Given the description of an element on the screen output the (x, y) to click on. 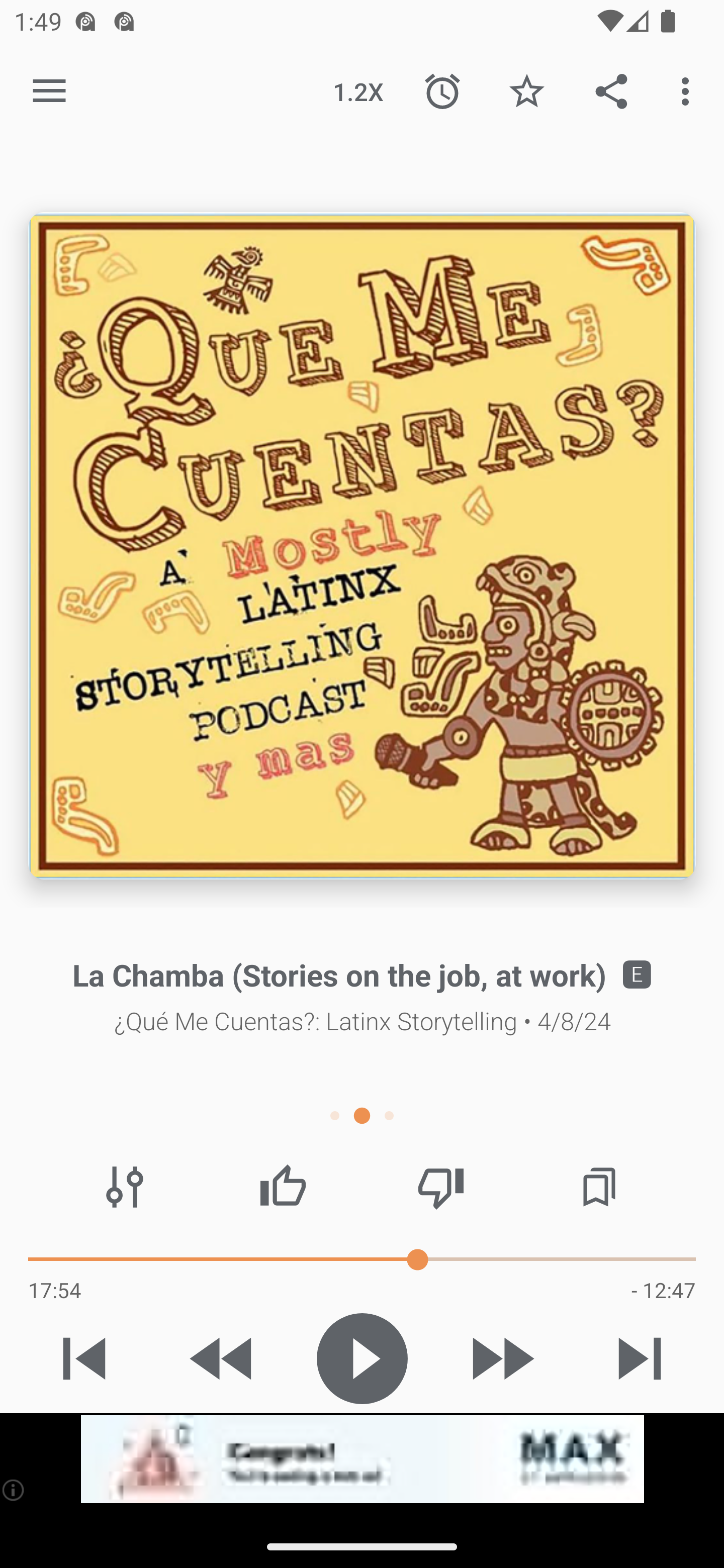
Open navigation sidebar (49, 91)
1.2X (357, 90)
Sleep Timer (442, 90)
Favorite (526, 90)
Share (611, 90)
More options (688, 90)
Episode description (361, 545)
Audio effects (124, 1186)
Thumbs up (283, 1186)
Thumbs down (440, 1186)
Chapters / Bookmarks (598, 1186)
- 12:47 (663, 1289)
Previous track (84, 1358)
Skip 15s backward (222, 1358)
Play / Pause (362, 1358)
Skip 30s forward (500, 1358)
Next track (639, 1358)
app-monetization (362, 1459)
(i) (14, 1489)
